Given the description of an element on the screen output the (x, y) to click on. 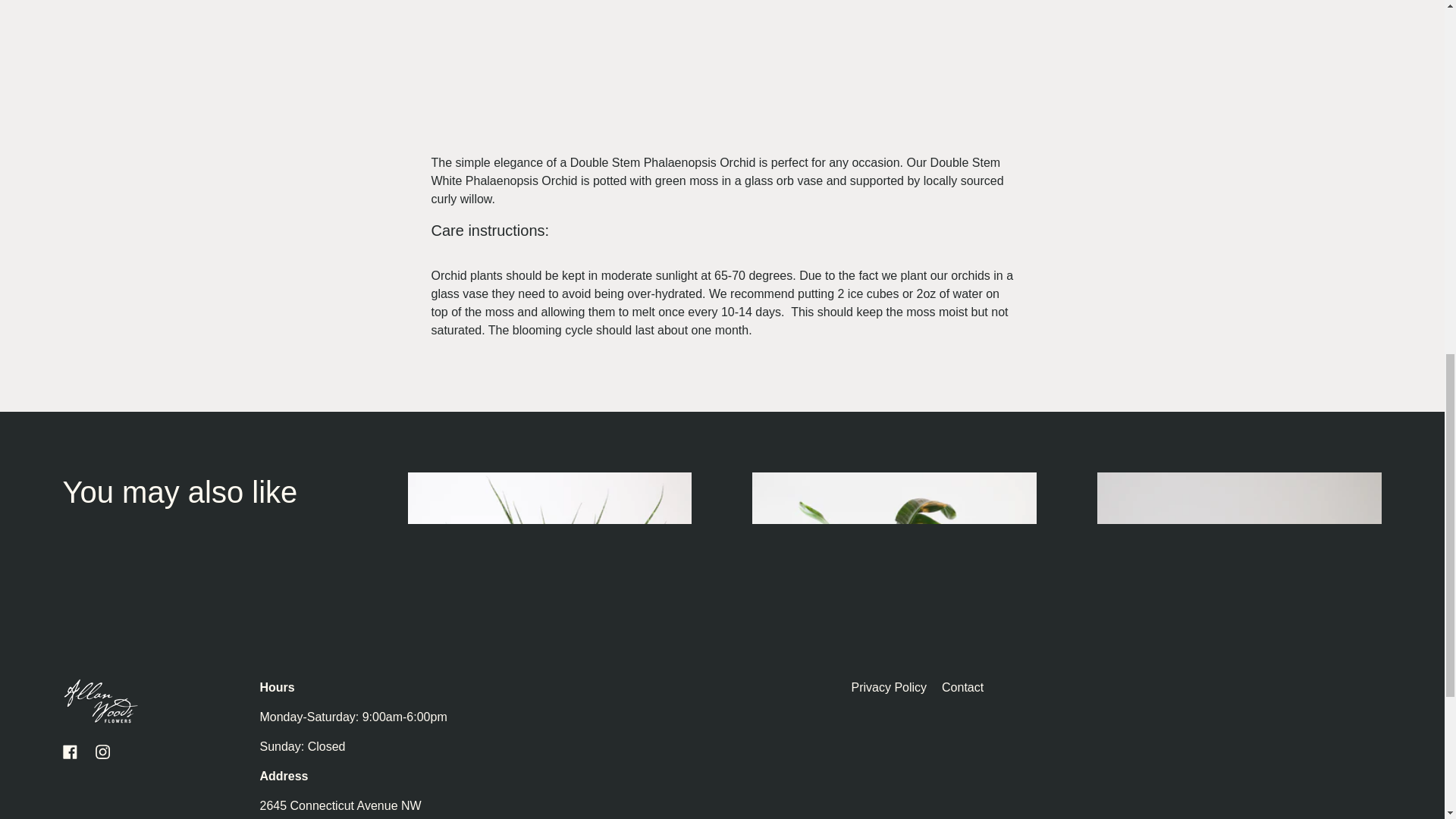
Allan Woods Flowers on Instagram (102, 751)
Allan Woods Flowers on Facebook (69, 751)
